Given the description of an element on the screen output the (x, y) to click on. 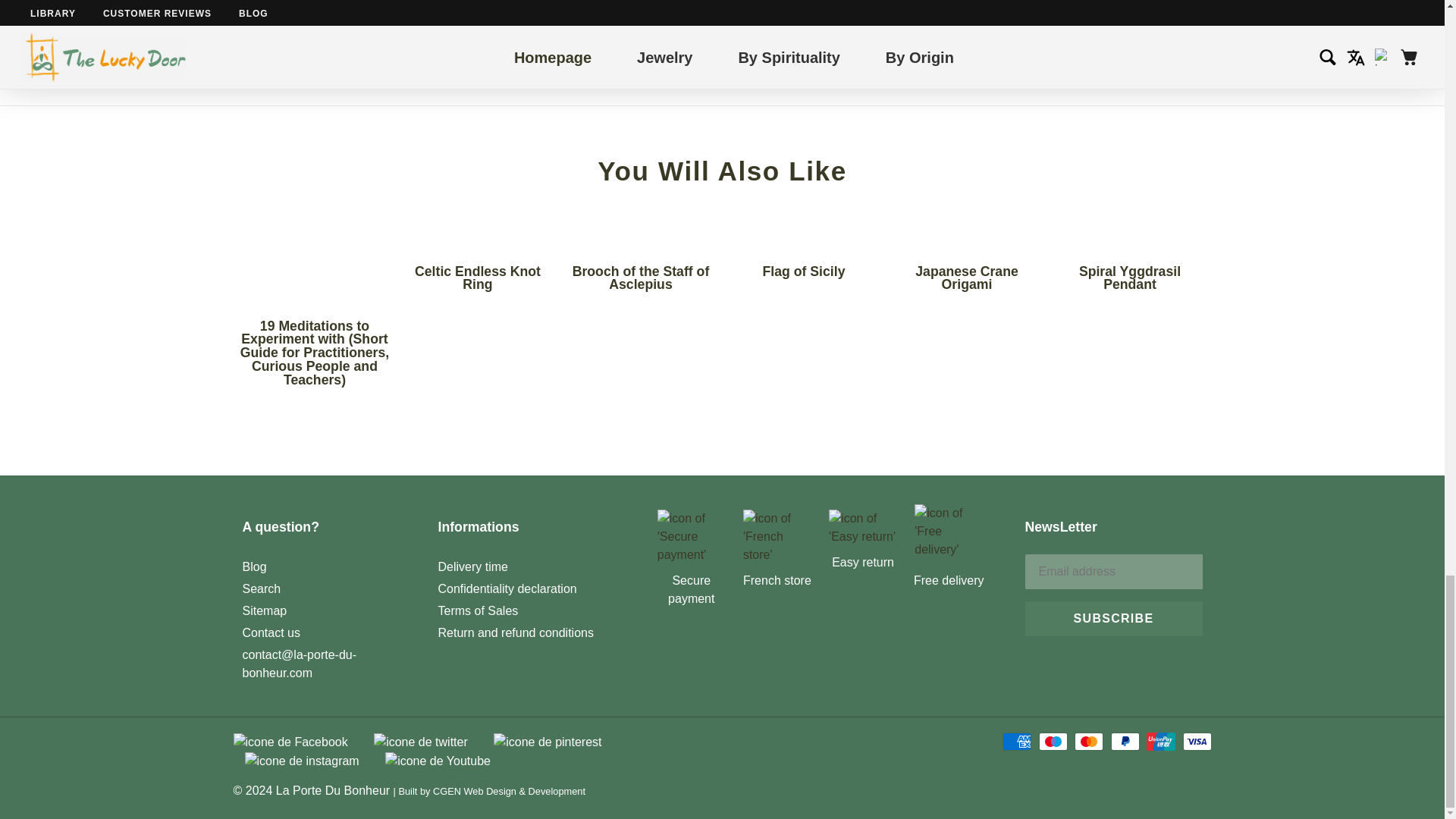
Mastercard (1088, 741)
Union Pay (1160, 741)
Maestro (1053, 741)
Visa (1196, 741)
PayPal (1125, 741)
American Express (1016, 741)
